Given the description of an element on the screen output the (x, y) to click on. 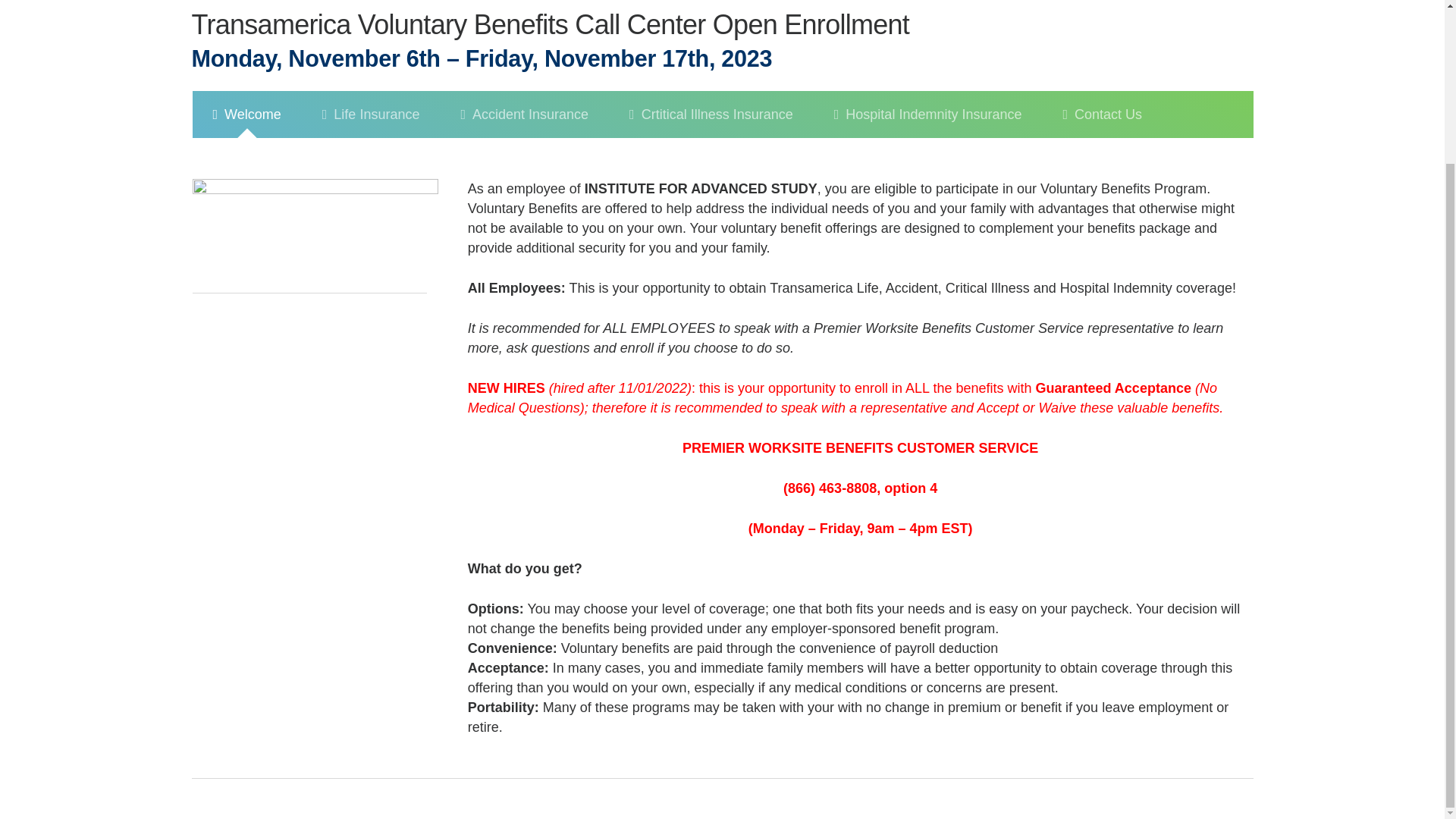
Life Insurance (371, 156)
Welcome (246, 166)
Hospital Indemnity Insurance (927, 135)
Accident Insurance (523, 148)
Crtitical Illness Insurance (710, 141)
Contact Us (1101, 130)
